Given the description of an element on the screen output the (x, y) to click on. 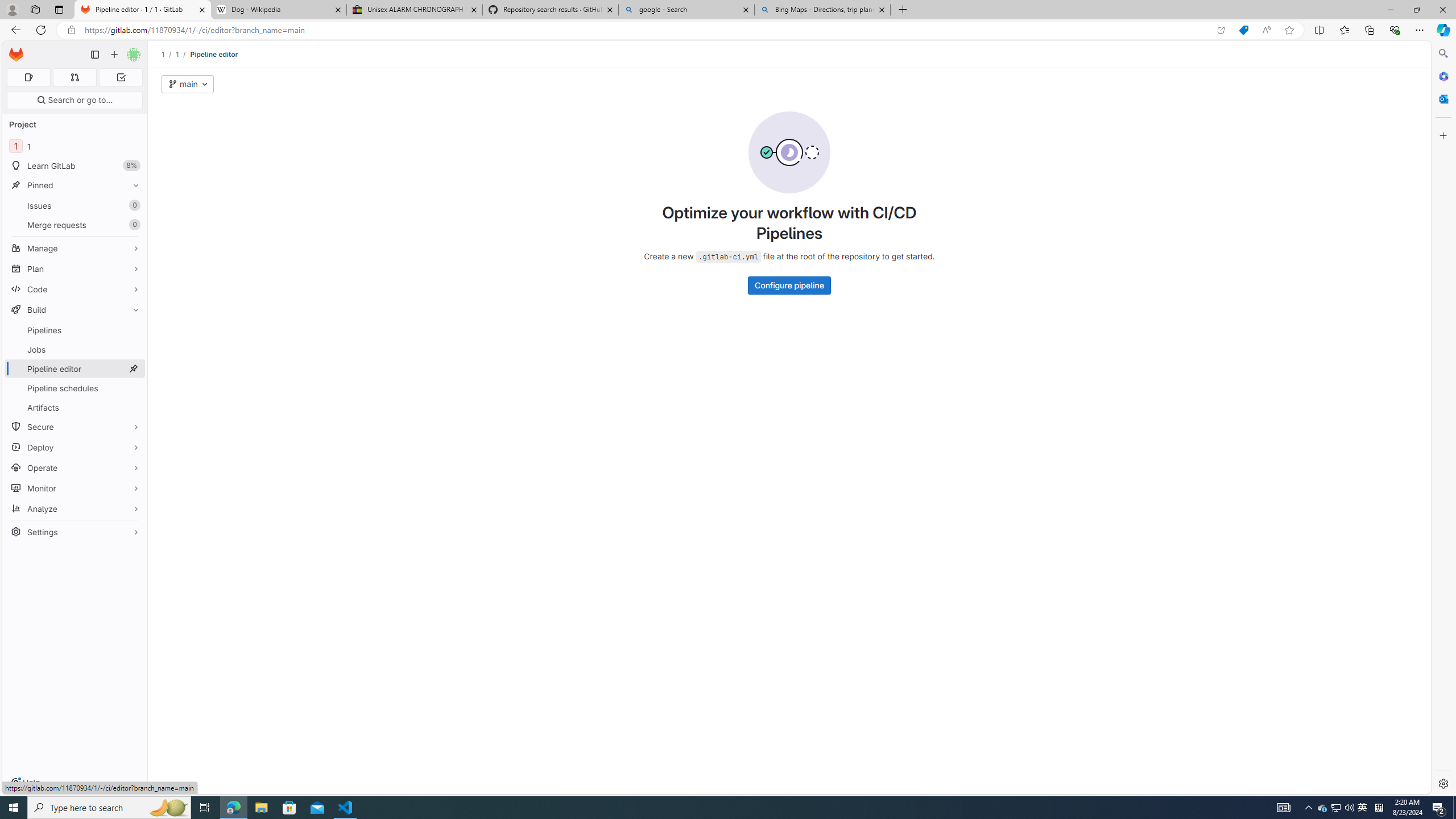
1 1 (74, 145)
Issues 0 (74, 205)
Skip to main content (13, 49)
Secure (74, 426)
Code (74, 289)
Create new... (113, 54)
Dog - Wikipedia (277, 9)
Homepage (16, 54)
1/ (183, 53)
Pin Pipeline editor (132, 368)
Monitor (74, 488)
